Given the description of an element on the screen output the (x, y) to click on. 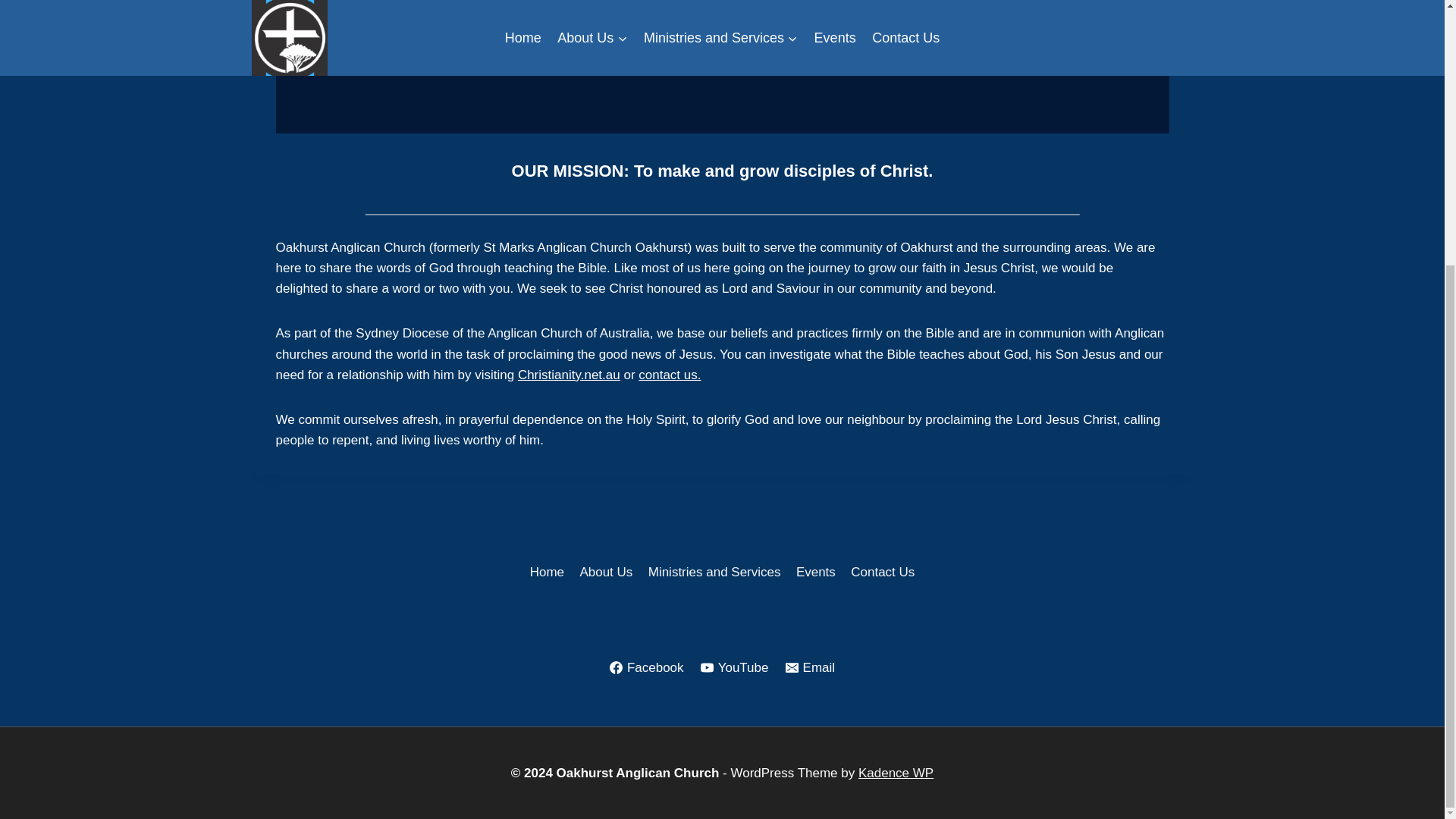
Contact Us (882, 571)
Christianity.net.au (569, 374)
contact us. (669, 374)
Kadence WP (896, 772)
Facebook (646, 667)
About Us (606, 571)
Email (810, 667)
Ministries and Services (714, 571)
Home (546, 571)
Events (816, 571)
YouTube (734, 667)
